Given the description of an element on the screen output the (x, y) to click on. 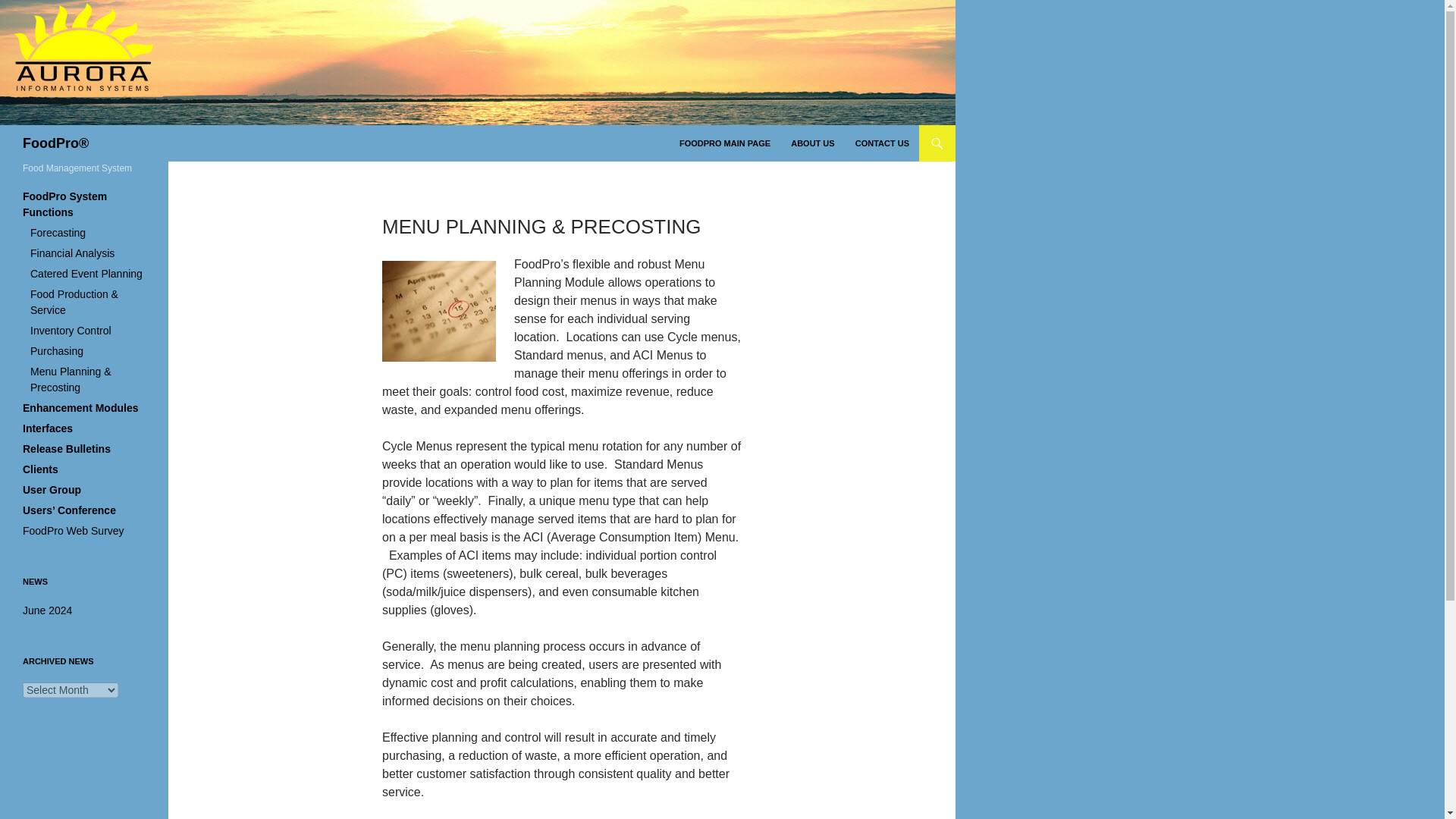
Purchasing (56, 350)
Interfaces (47, 428)
FoodPro System Functions (64, 204)
Forecasting (57, 232)
Catered Event Planning (86, 273)
FoodPro Web Survey (73, 530)
June 2024 (47, 610)
Enhancement Modules (80, 408)
FOODPRO MAIN PAGE (723, 143)
Inventory Control (71, 330)
ABOUT US (812, 143)
User Group (52, 490)
Clients (40, 469)
